Given the description of an element on the screen output the (x, y) to click on. 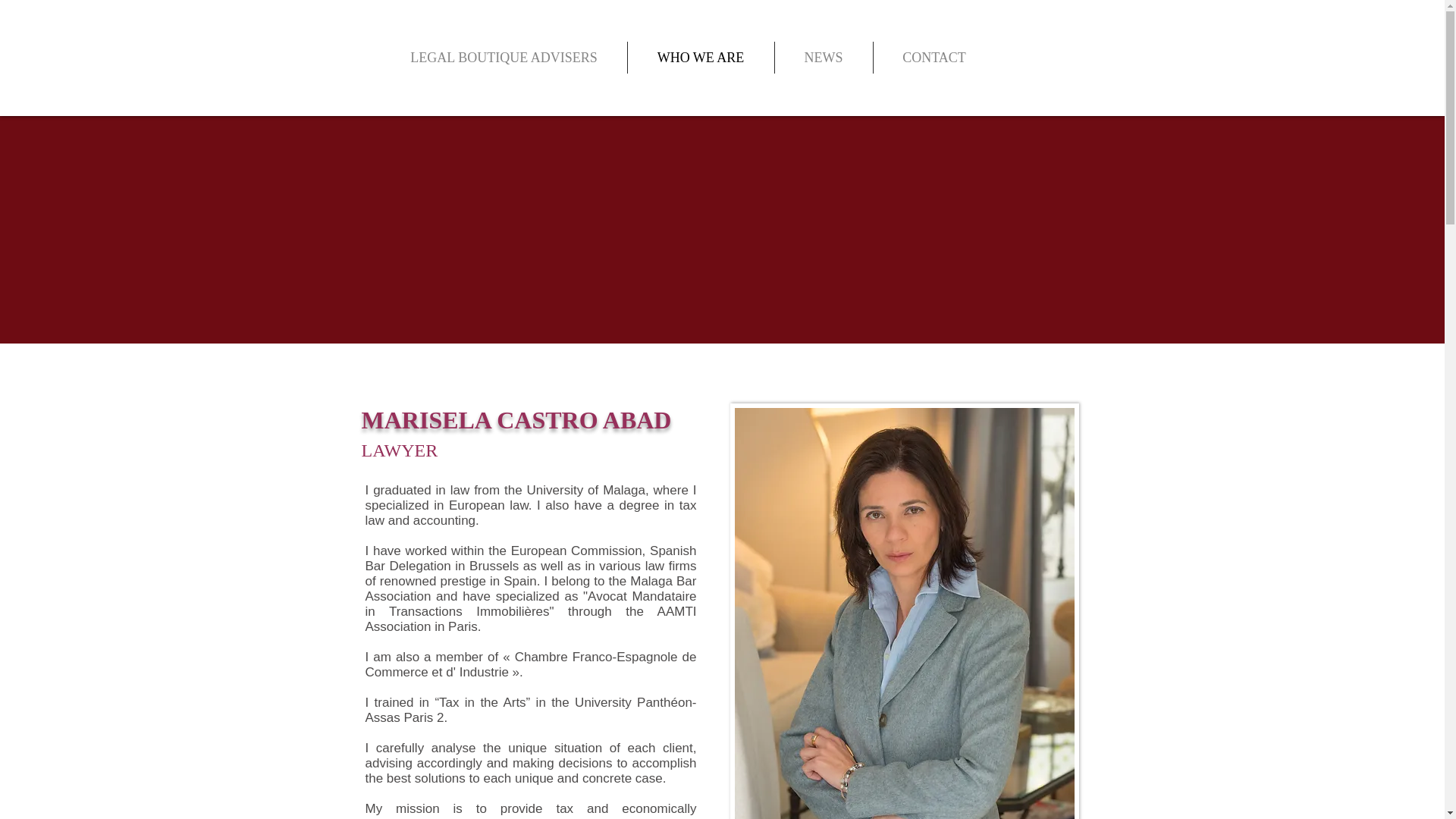
CONTACT (934, 57)
WHO WE ARE (700, 57)
NEWS (823, 57)
LEGAL BOUTIQUE ADVISERS (503, 57)
